Given the description of an element on the screen output the (x, y) to click on. 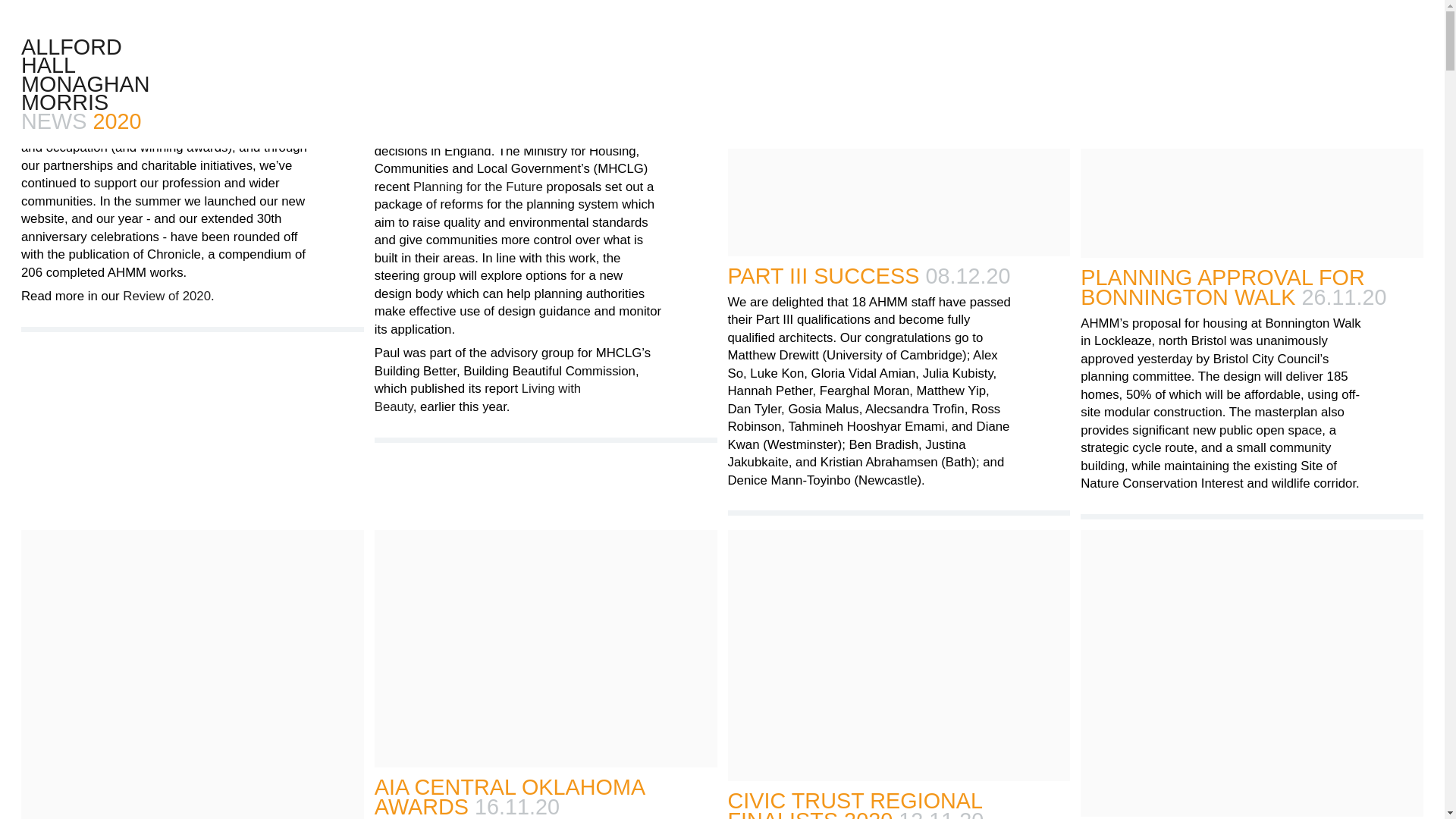
2020 (117, 120)
PAUL MONAGHAN JOINS MHCLG STEERING GROUP (515, 23)
Planning for the Future (478, 187)
REVIEW OF 2020 (109, 14)
CIVIC TRUST REGIONAL FINALISTS 2020 (855, 803)
government steering group (503, 89)
AIA CENTRAL OKLAHOMA AWARDS (509, 796)
PLANNING APPROVAL FOR BONNINGTON WALK (1222, 287)
PART III SUCCESS (824, 275)
Review of 2020 (166, 296)
Living with Beauty (477, 398)
NEWS (53, 120)
